Given the description of an element on the screen output the (x, y) to click on. 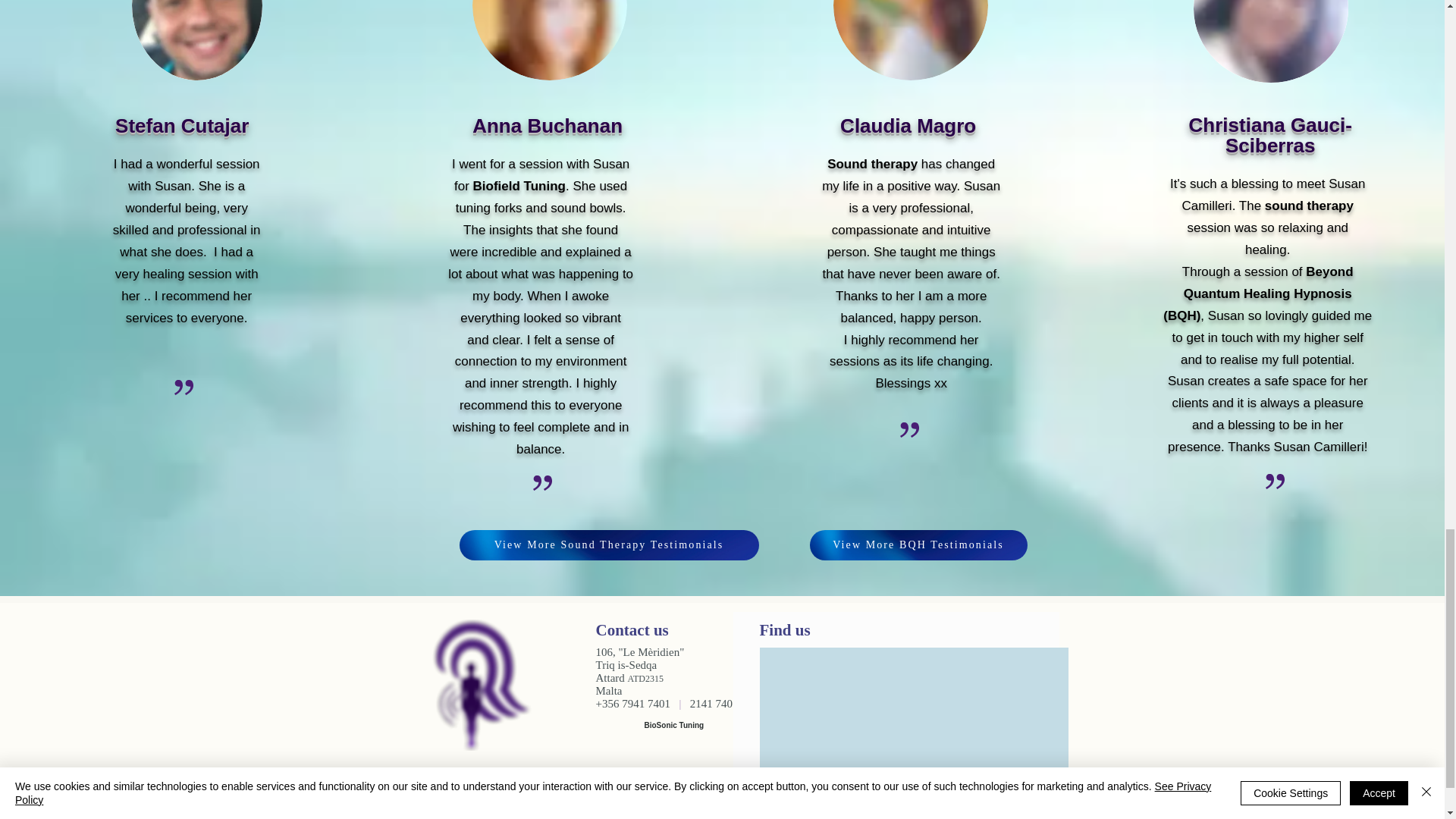
Privacy (711, 806)
View More BQH Testimonials (918, 544)
Copyright  (662, 806)
Disclaimer  (605, 806)
GettyImages-145680711.jpg (1270, 41)
View More Sound Therapy Testimonials (609, 544)
Google Maps (913, 724)
